Given the description of an element on the screen output the (x, y) to click on. 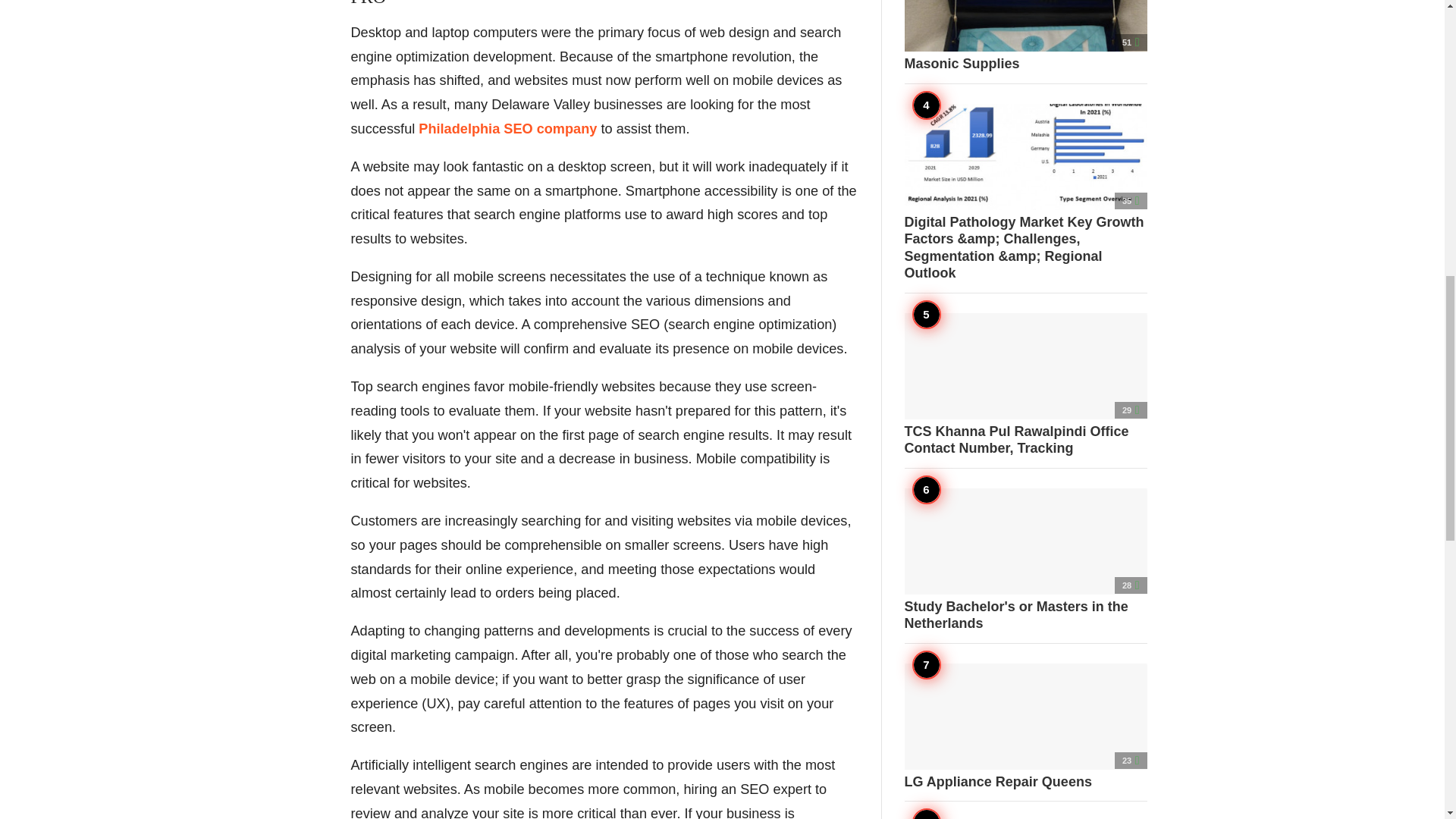
Masonic Supplies (1025, 36)
LG Appliance Repair Queens (1025, 726)
TCS Khanna Pul Rawalpindi Office Contact Number, Tracking (1025, 384)
Study Bachelor's or Masters in the Netherlands (1025, 560)
